Given the description of an element on the screen output the (x, y) to click on. 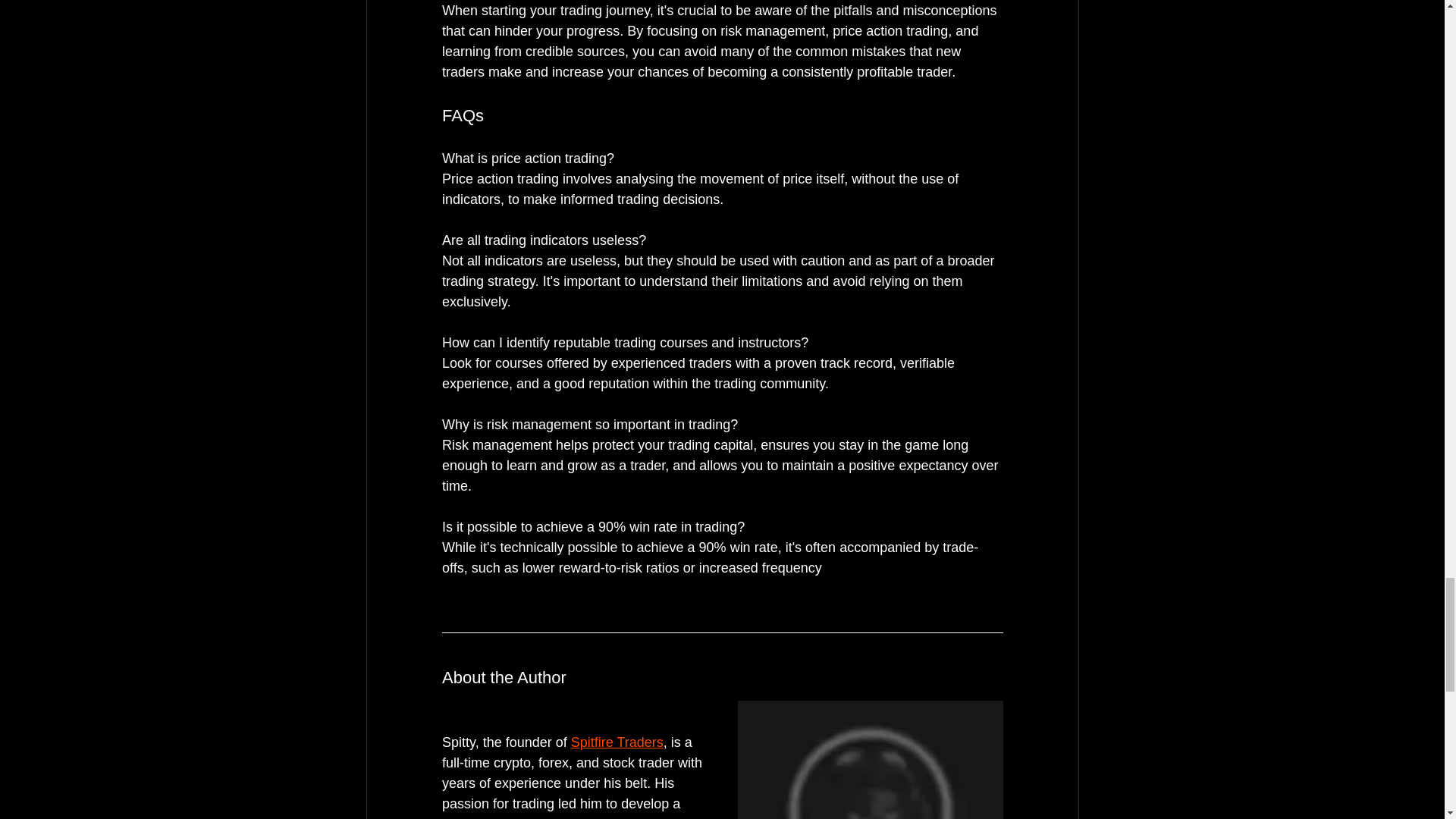
Spitfire Traders (616, 742)
